Given the description of an element on the screen output the (x, y) to click on. 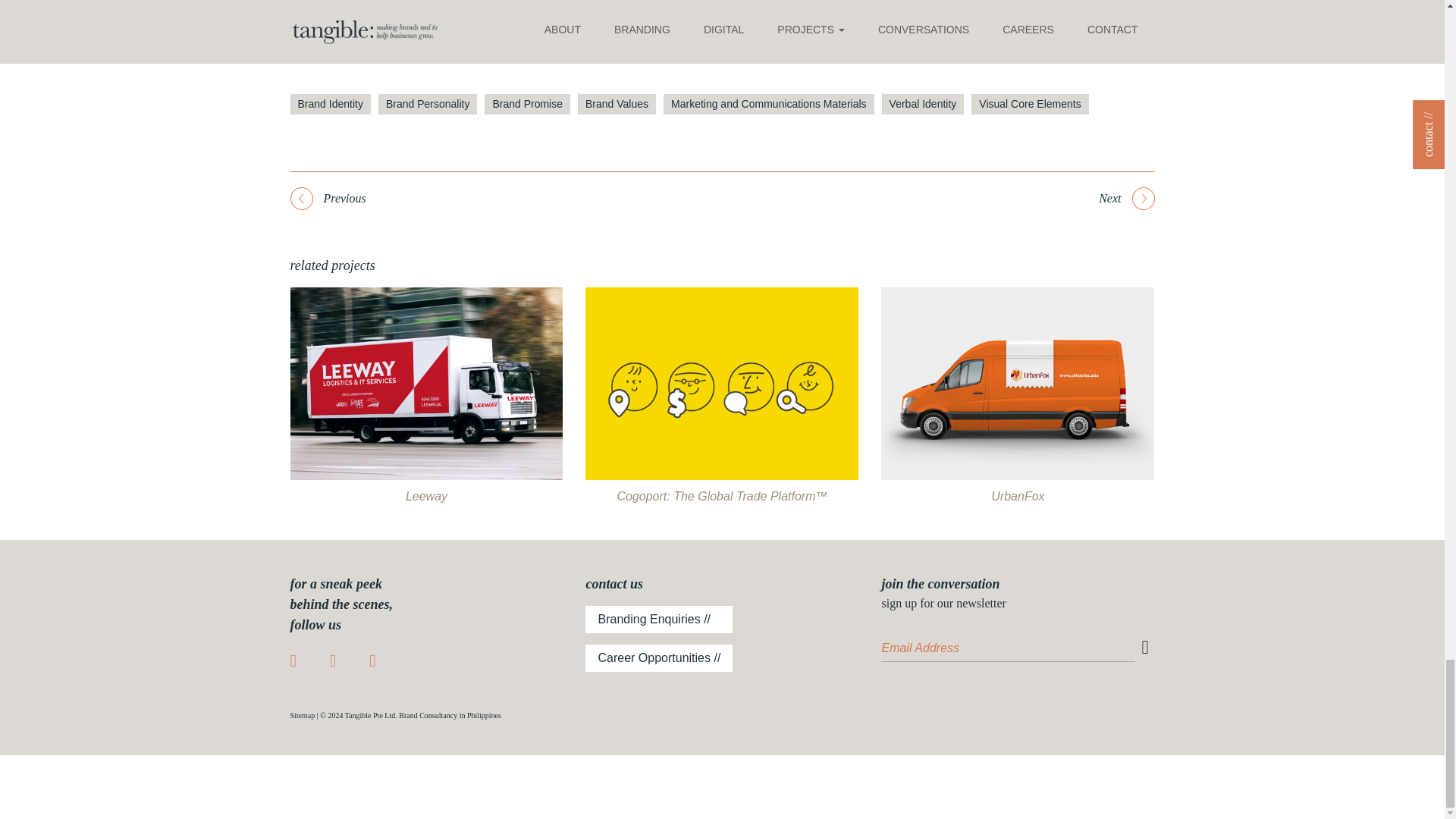
Previous (327, 198)
Visual Core Elements (1029, 104)
Brand Personality (427, 104)
Brand Promise (527, 104)
Marketing and Communications Materials (769, 104)
Brand Identity (329, 104)
Leeway (425, 499)
2GO (330, 25)
Verbal Identity (922, 104)
Brand Values (617, 104)
